Given the description of an element on the screen output the (x, y) to click on. 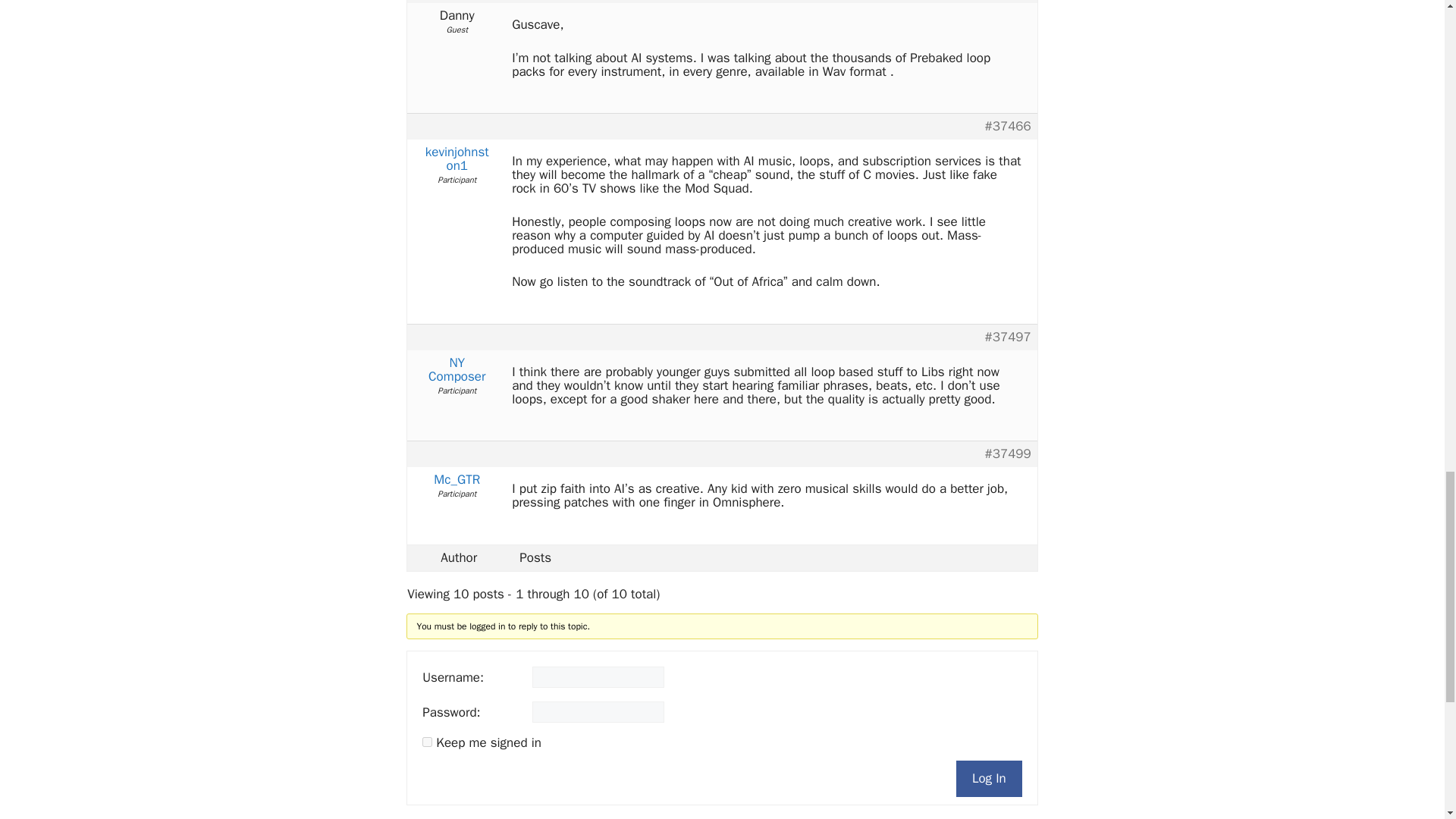
View kevinjohnston1's profile (456, 158)
forever (427, 741)
View NY Composer's profile (456, 370)
